Given the description of an element on the screen output the (x, y) to click on. 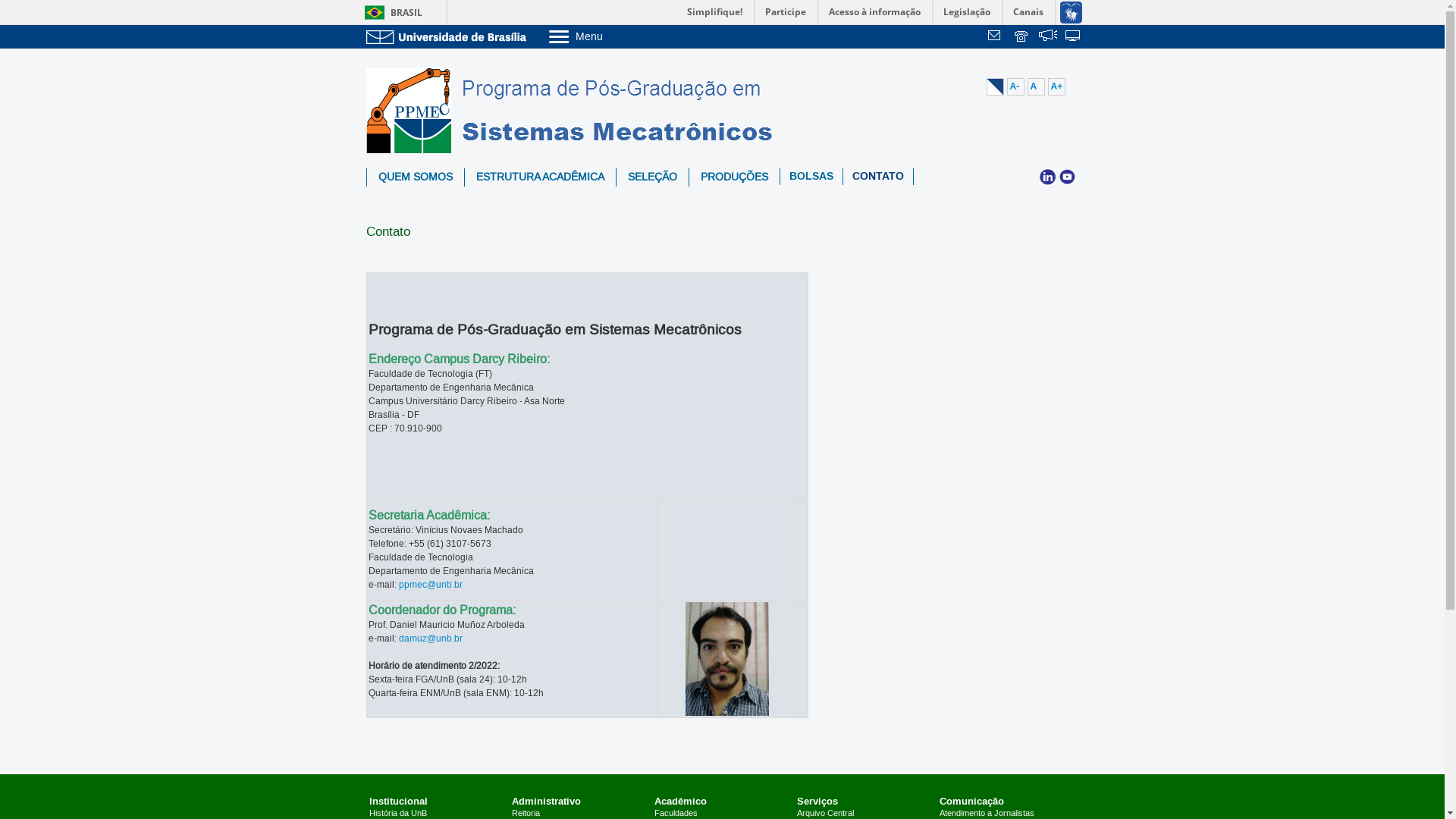
Webmail Element type: hover (996, 37)
  Element type: text (1047, 37)
A+ Element type: text (1056, 86)
Sistemas Element type: hover (1073, 37)
A- Element type: text (1015, 86)
Ir para o Portal da UnB Element type: hover (448, 36)
Reitoria Element type: text (525, 813)
ppmec@unb.br Element type: text (430, 584)
Atendimento a Jornalistas Element type: text (986, 813)
damuz@unb.br Element type: text (430, 638)
Fala.BR Element type: hover (1047, 37)
Arquivo Central Element type: text (825, 813)
  Element type: text (1073, 37)
BOLSAS Element type: text (810, 176)
Faculdades Element type: text (675, 813)
  Element type: text (996, 37)
BRASIL Element type: text (389, 12)
CONTATO Element type: text (878, 176)
Menu Element type: text (613, 35)
  Element type: text (1022, 37)
Telefones da UnB Element type: hover (1022, 37)
A Element type: text (1035, 86)
